Given the description of an element on the screen output the (x, y) to click on. 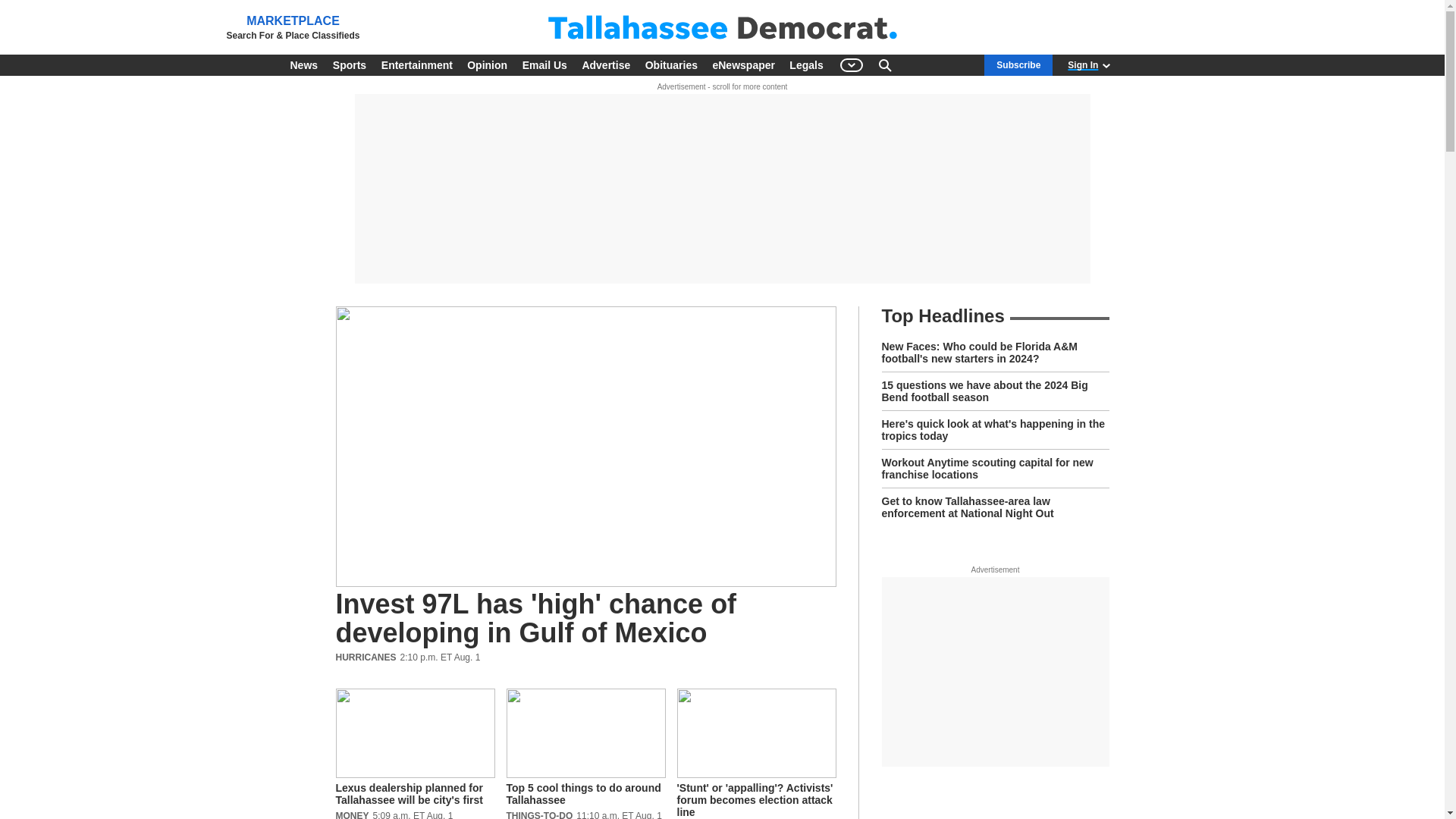
Entertainment (417, 65)
Legals (805, 65)
eNewspaper (742, 65)
Email Us (545, 65)
Search (885, 65)
Sports (349, 65)
Opinion (486, 65)
News (303, 65)
